Given the description of an element on the screen output the (x, y) to click on. 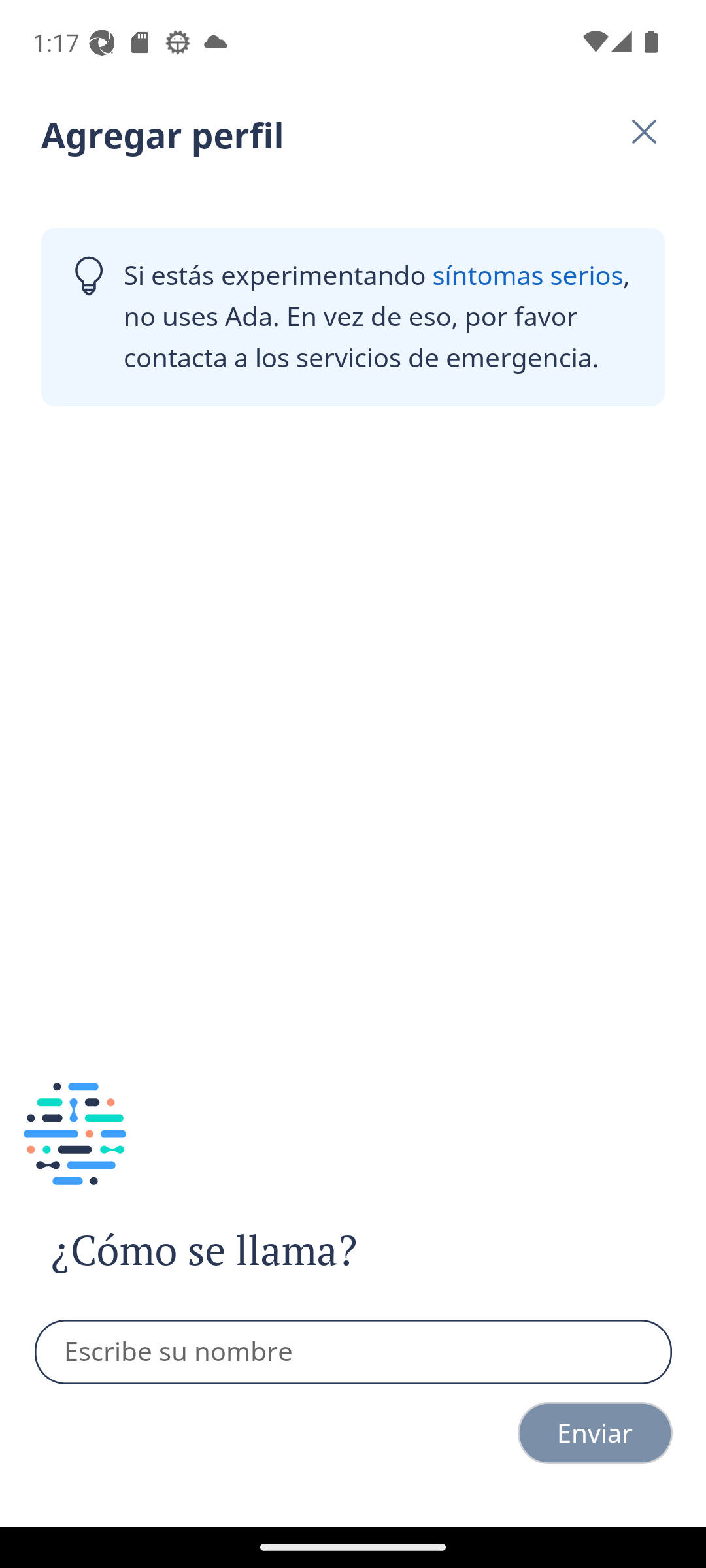
¿Cómo se llama? (240, 1250)
Escribe su nombre (353, 1352)
Enviar (594, 1432)
